Given the description of an element on the screen output the (x, y) to click on. 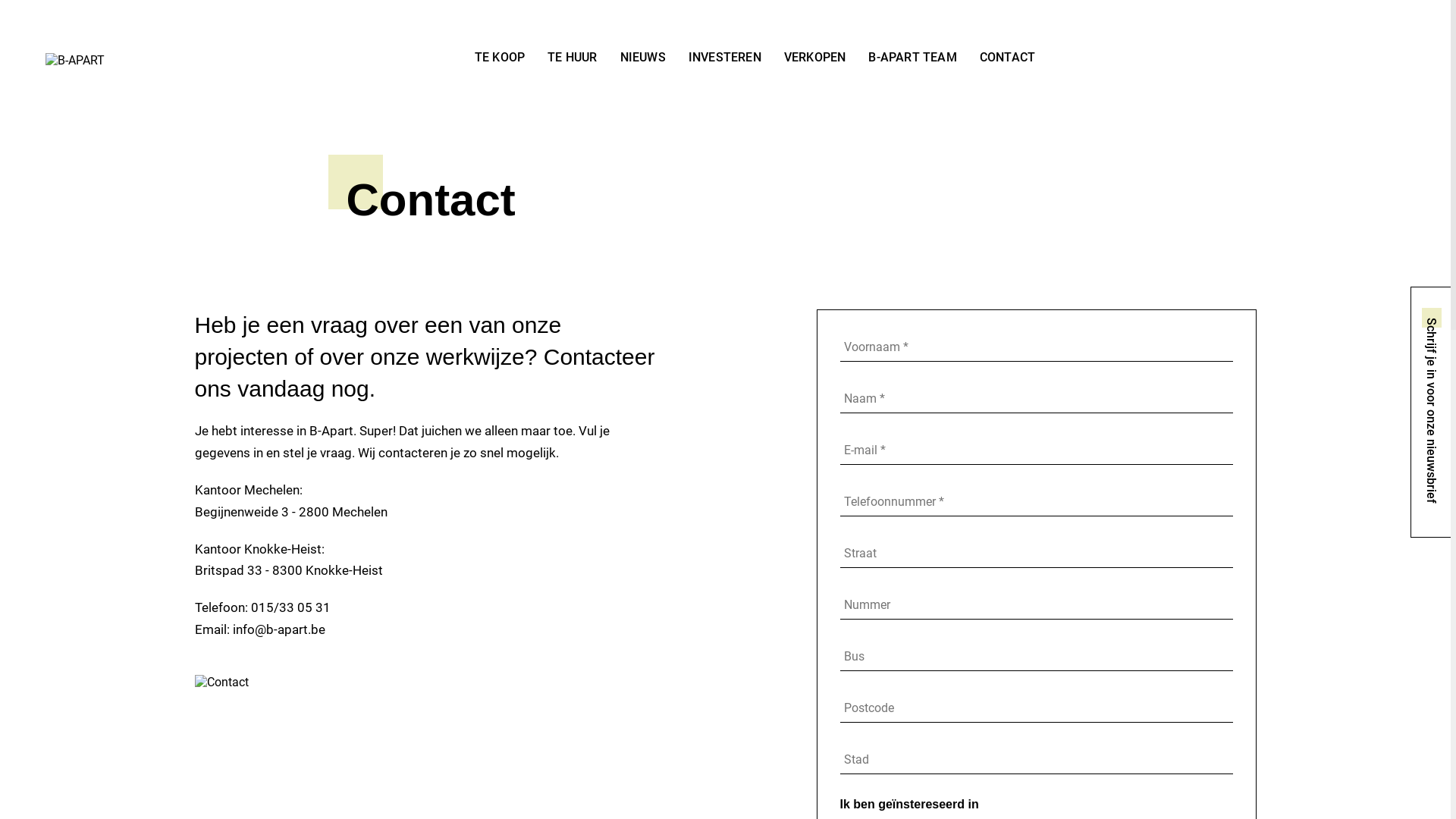
INVESTEREN Element type: text (724, 56)
TE KOOP Element type: text (499, 56)
CONTACT Element type: text (1007, 56)
Schrijf je in voor onze nieuwsbrief Element type: text (1430, 411)
VERKOPEN Element type: text (815, 56)
B-APART TEAM Element type: text (912, 56)
TE HUUR Element type: text (571, 56)
NIEUWS Element type: text (642, 56)
B-APART Element type: hover (74, 60)
